Given the description of an element on the screen output the (x, y) to click on. 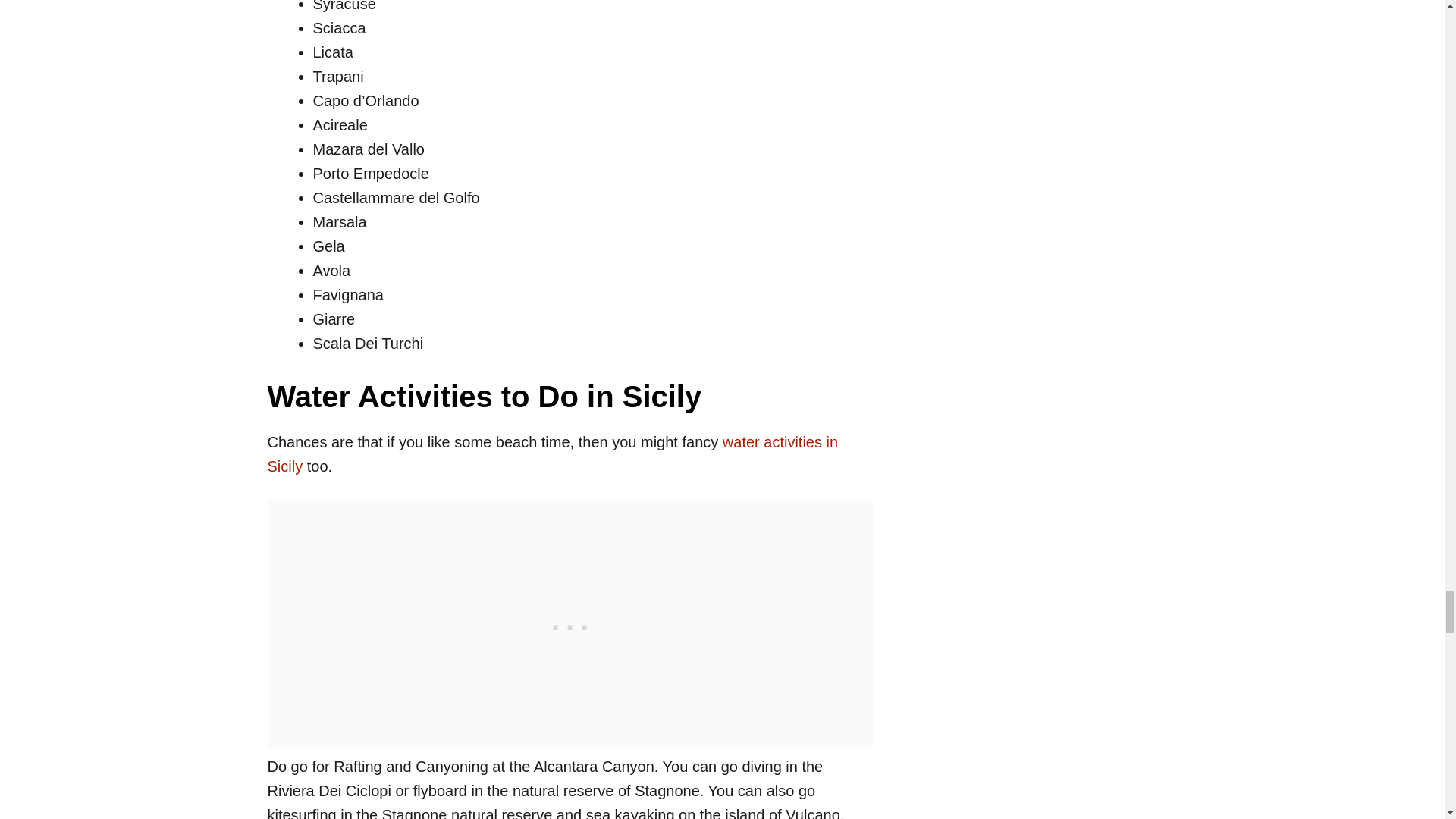
water activities in Sicily (552, 454)
